Given the description of an element on the screen output the (x, y) to click on. 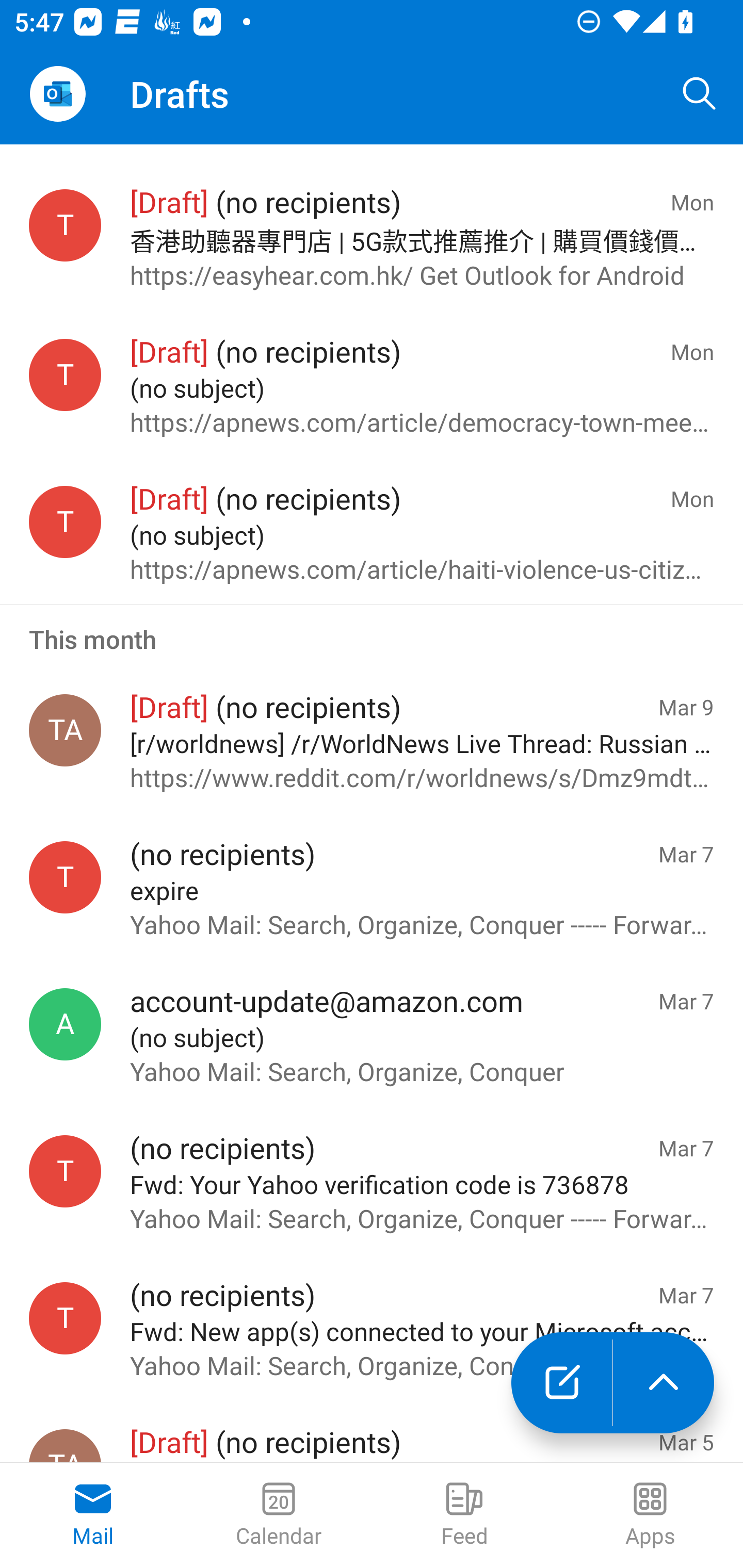
Search, ,  (699, 93)
Open Navigation Drawer (57, 94)
testappium002@outlook.com (64, 225)
testappium002@outlook.com (64, 374)
testappium002@outlook.com (64, 522)
Test Appium, testappium002@outlook.com (64, 730)
testappium002@outlook.com (64, 878)
testappium002@outlook.com (64, 1171)
testappium002@outlook.com (64, 1318)
New mail (561, 1382)
launch the extended action menu (663, 1382)
Calendar (278, 1515)
Feed (464, 1515)
Apps (650, 1515)
